Given the description of an element on the screen output the (x, y) to click on. 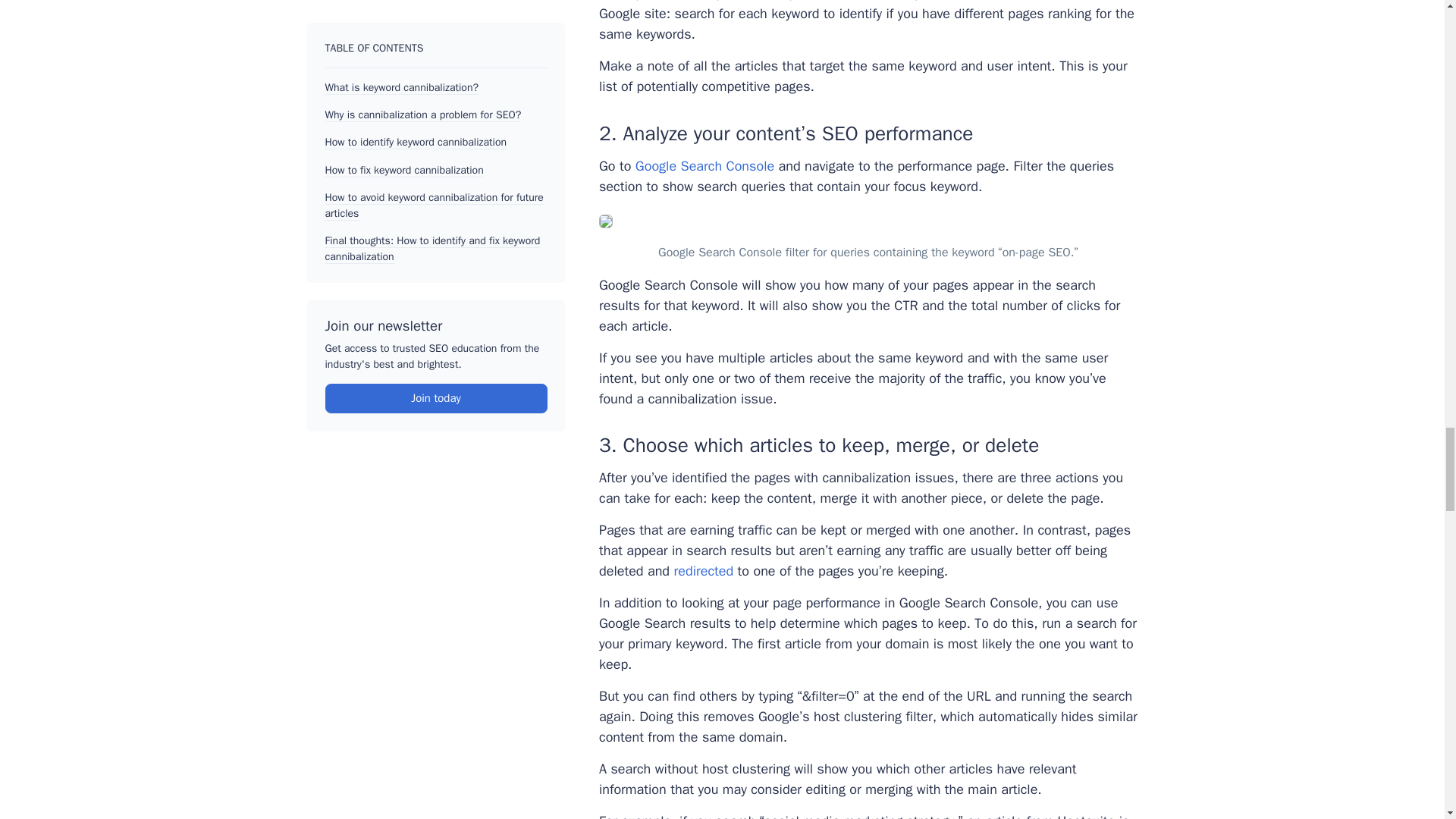
content audit (983, 0)
redirected (702, 570)
Google Search Console (704, 166)
